Given the description of an element on the screen output the (x, y) to click on. 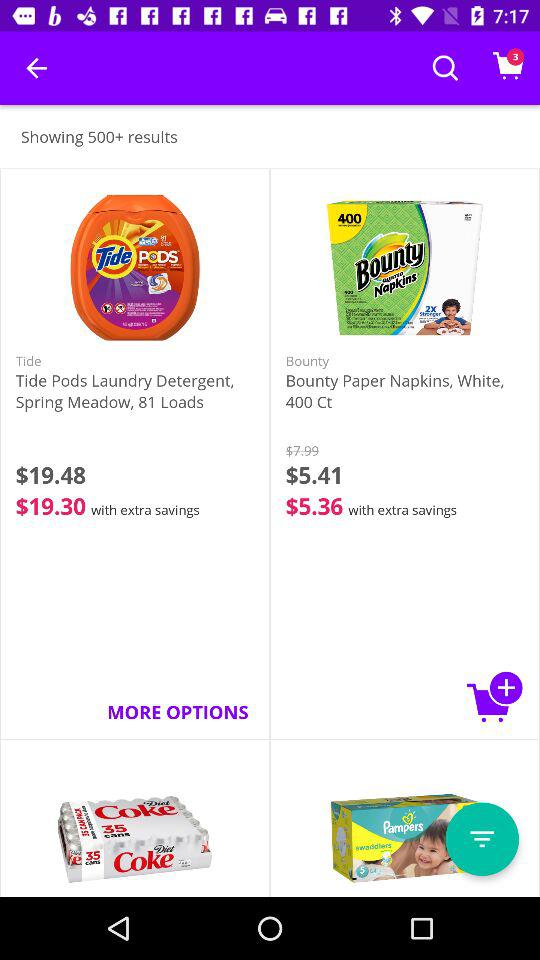
add to cart icon (495, 696)
